Given the description of an element on the screen output the (x, y) to click on. 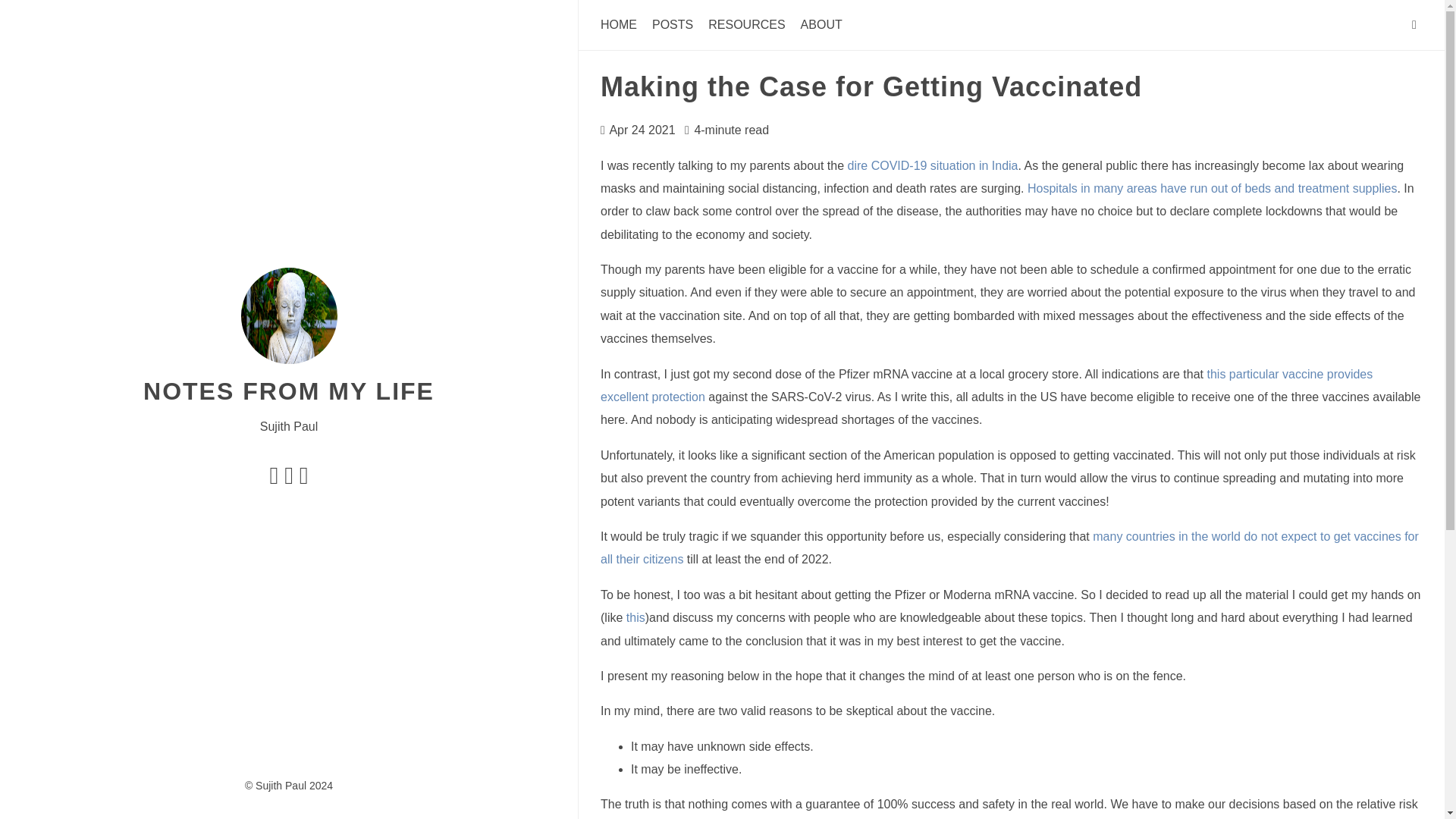
Switch Theme (1414, 24)
dire COVID-19 situation in India (932, 162)
this (635, 616)
HOME (618, 17)
NOTES FROM MY LIFE (287, 376)
ABOUT (821, 20)
RESOURCES (745, 19)
this particular vaccine provides excellent protection (986, 384)
POSTS (672, 18)
